Given the description of an element on the screen output the (x, y) to click on. 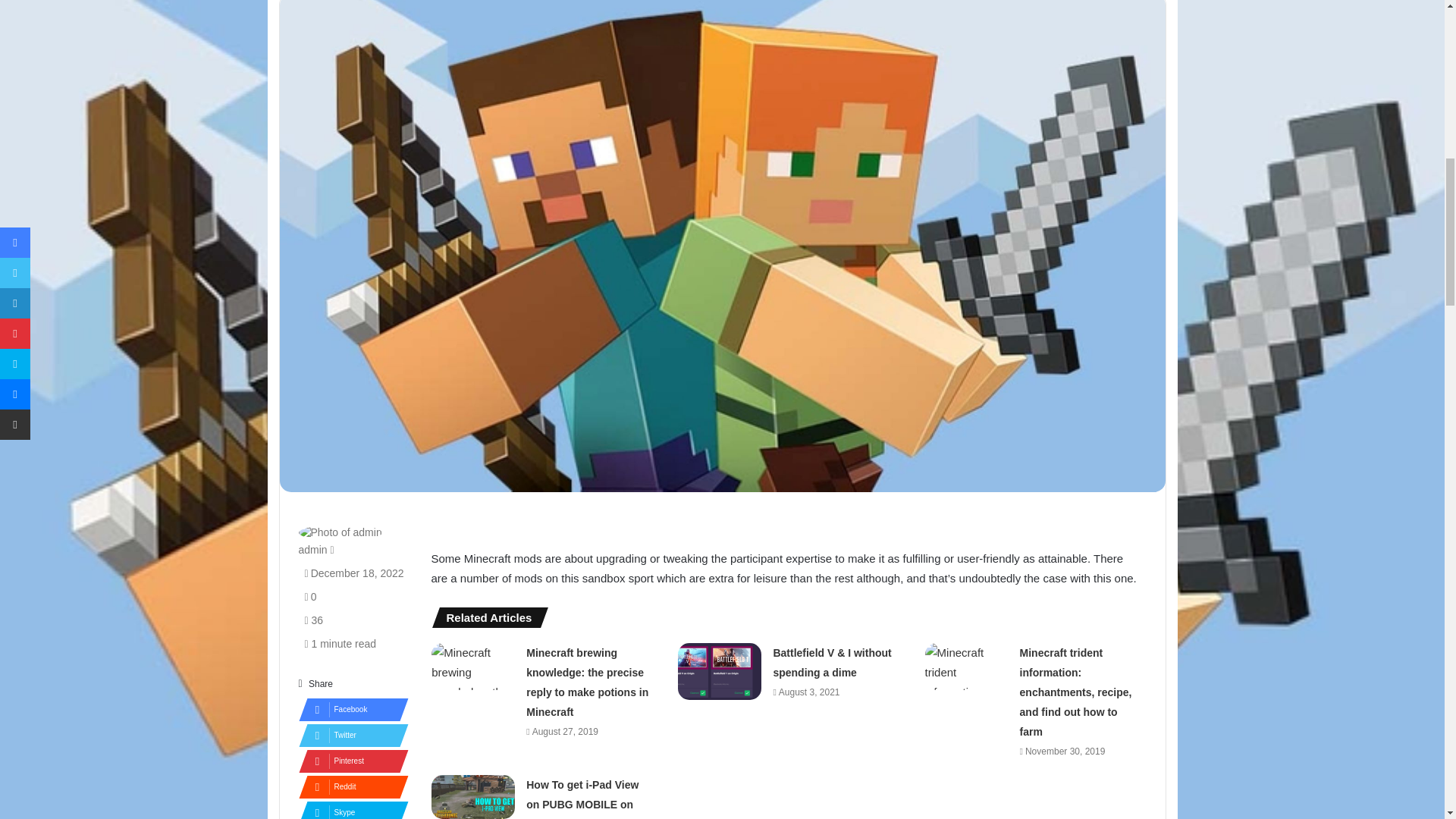
Minecraft trident guide enchantments recipe and how to farm (966, 666)
Screenshot 2021 08 03 172359 (719, 671)
admin (312, 549)
1587377084 How To get i Pad View on PUBG MOBILE on Any.webp (472, 796)
Facebook (348, 709)
Send an email (332, 549)
